Given the description of an element on the screen output the (x, y) to click on. 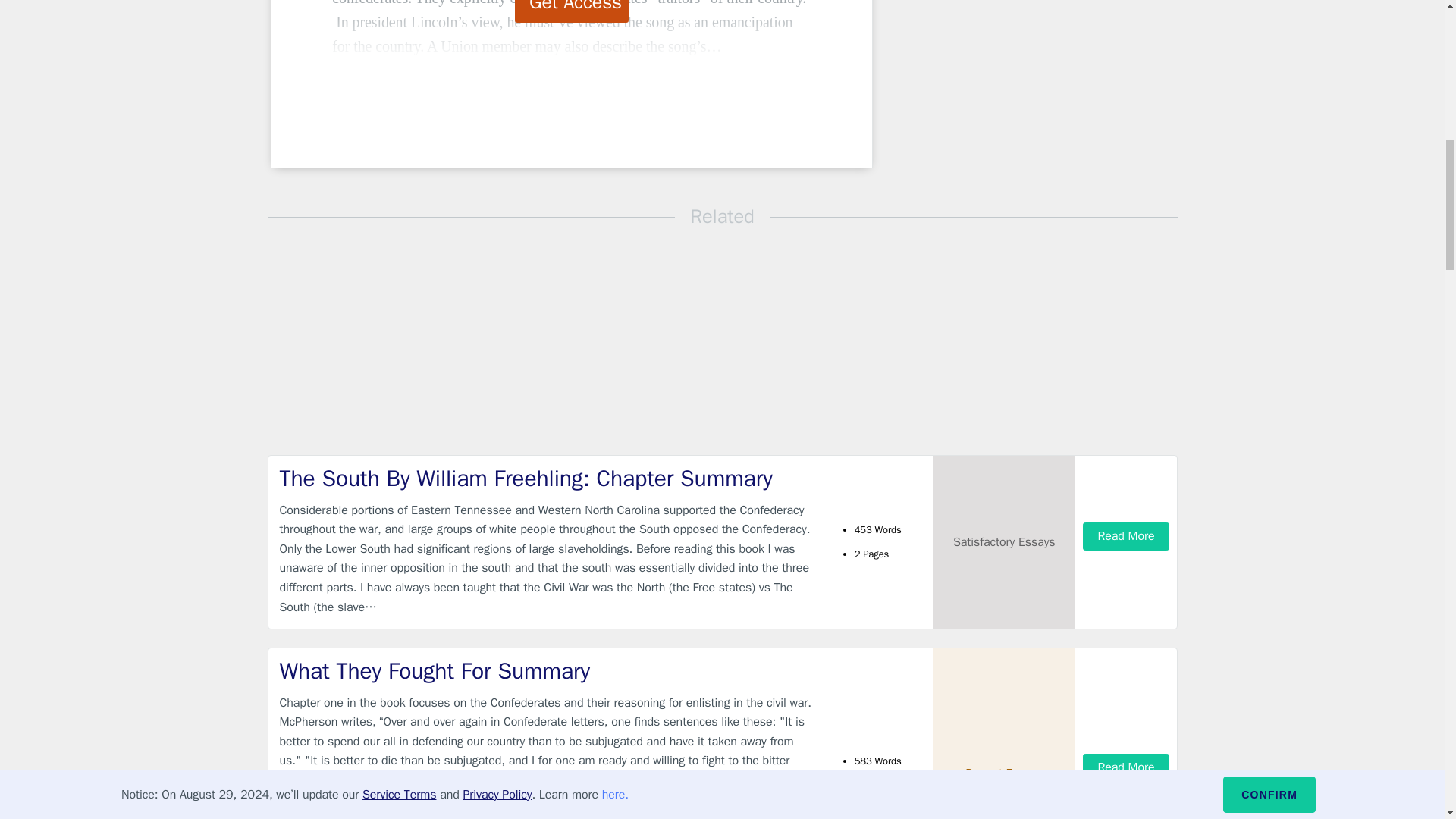
The South By William Freehling: Chapter Summary (548, 478)
Read More (1126, 536)
Read More (1126, 767)
Get Access (571, 11)
What They Fought For Summary (548, 671)
